Given the description of an element on the screen output the (x, y) to click on. 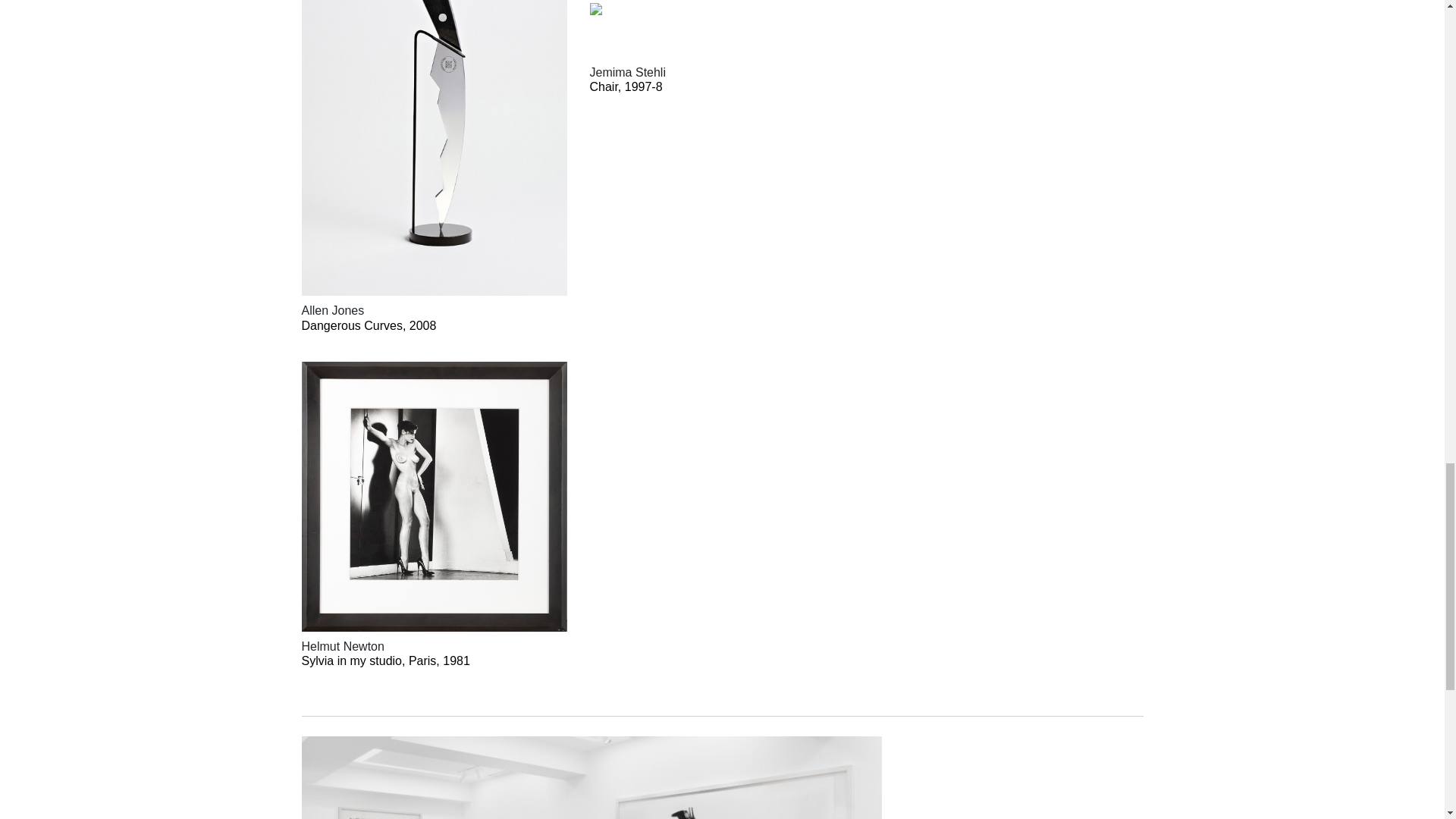
Chair, 1997-8 (716, 86)
Dangerous Curves, 2008 (428, 325)
Sylvia in my studio, Paris, 1981 (428, 660)
